Given the description of an element on the screen output the (x, y) to click on. 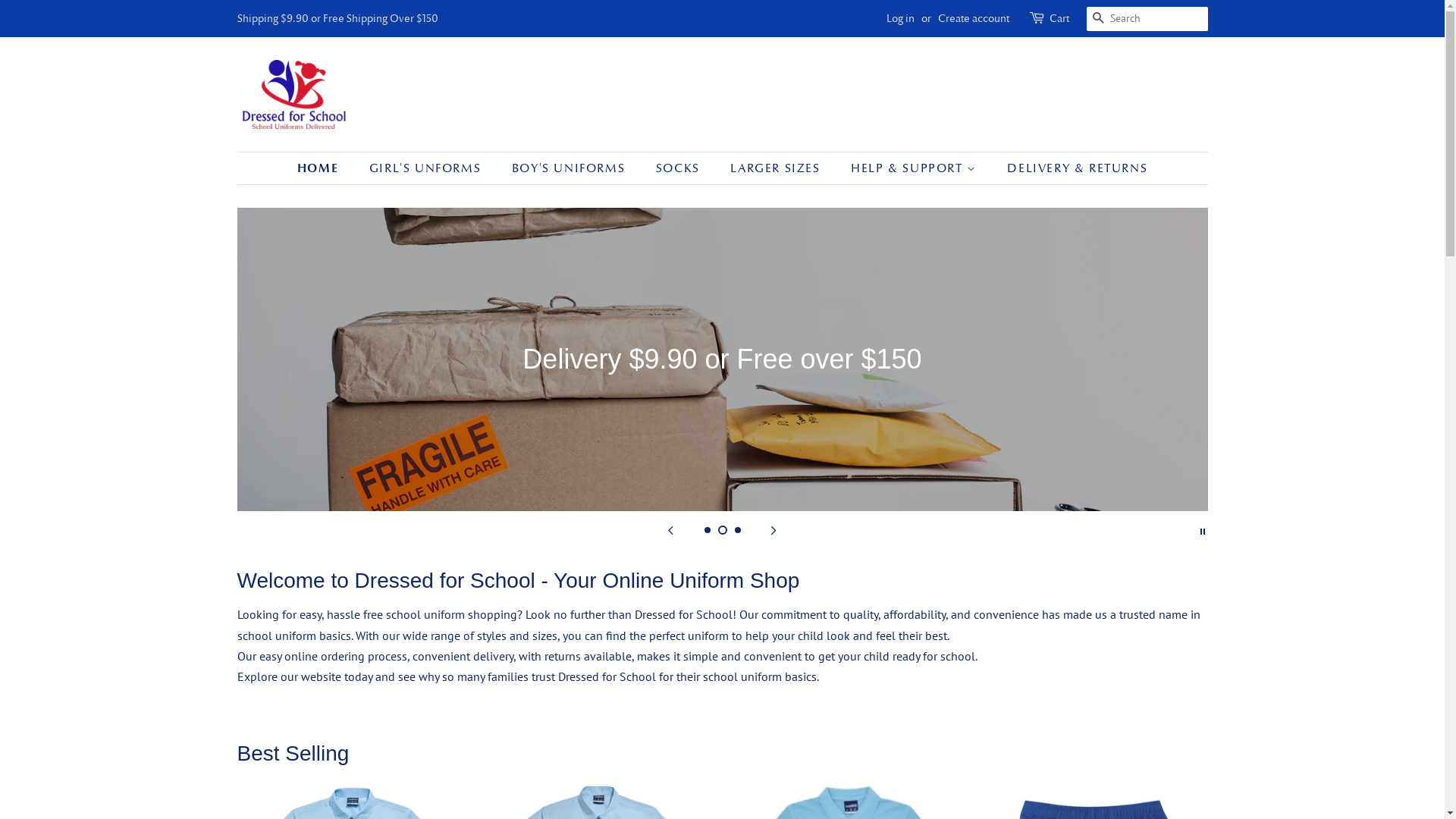
Create account Element type: text (972, 18)
SOCKS Element type: text (679, 168)
GIRL'S UNFORMS Element type: text (426, 168)
Cart Element type: text (1059, 18)
HELP & SUPPORT Element type: text (915, 168)
LARGER SIZES Element type: text (776, 168)
SEARCH Element type: text (1097, 18)
DELIVERY & RETURNS Element type: text (1071, 168)
BOY'S UNIFORMS Element type: text (570, 168)
HOME Element type: text (325, 167)
2 Element type: text (721, 529)
Log in Element type: text (899, 18)
3 Element type: text (736, 529)
1 Element type: text (706, 529)
